Given the description of an element on the screen output the (x, y) to click on. 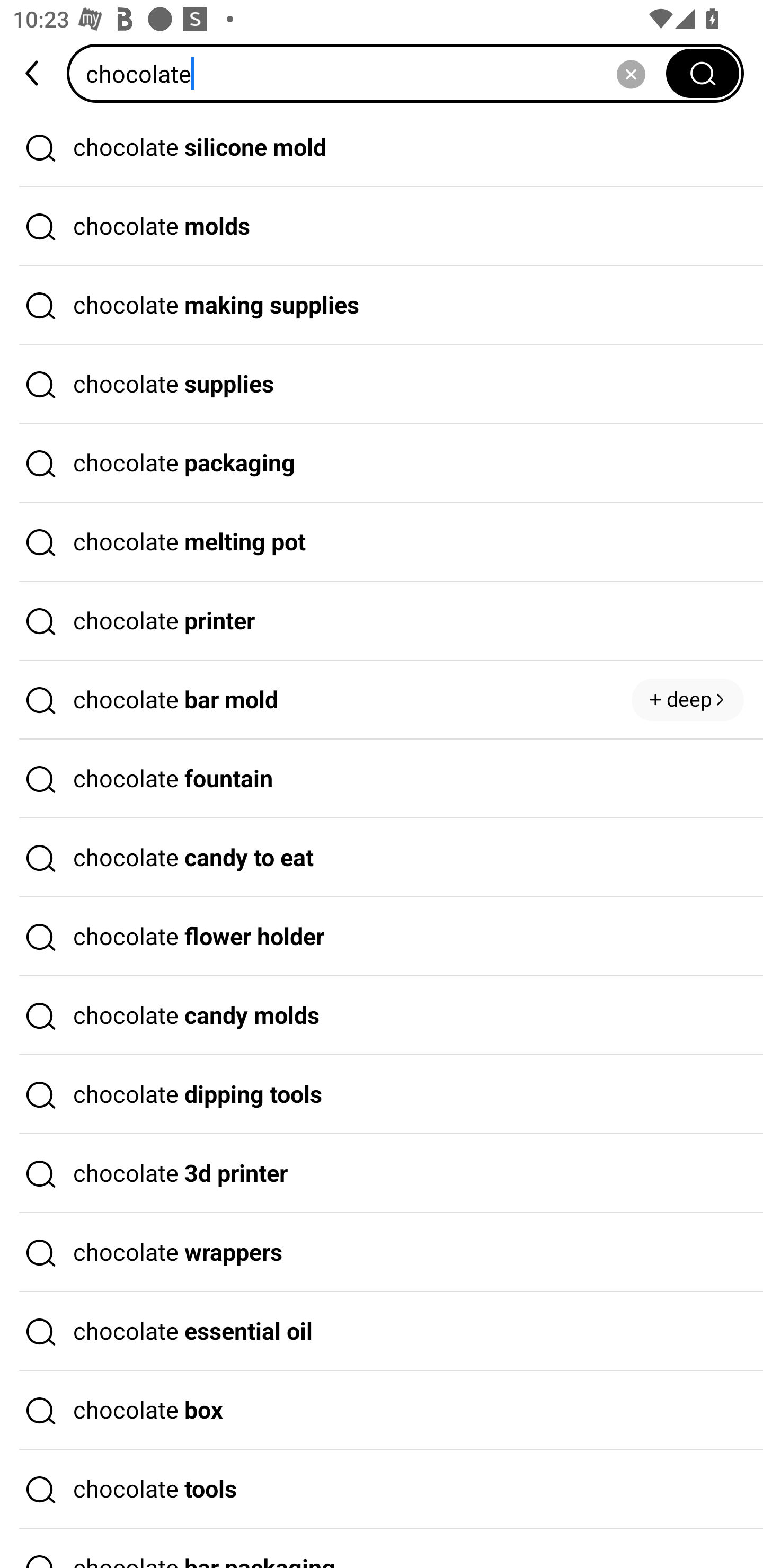
back (33, 72)
chocolate (372, 73)
Delete search history (630, 73)
chocolate silicone mold (381, 147)
chocolate molds (381, 226)
chocolate making supplies (381, 305)
chocolate supplies (381, 383)
chocolate packaging (381, 463)
chocolate melting pot (381, 542)
chocolate printer (381, 620)
chocolate bar mold deep (381, 700)
deep (687, 699)
chocolate fountain (381, 779)
chocolate candy to eat (381, 857)
chocolate flower holder (381, 936)
chocolate candy molds (381, 1015)
chocolate dipping tools (381, 1094)
chocolate 3d printer (381, 1173)
chocolate wrappers (381, 1252)
chocolate essential oil (381, 1331)
chocolate box (381, 1410)
chocolate tools (381, 1489)
